Given the description of an element on the screen output the (x, y) to click on. 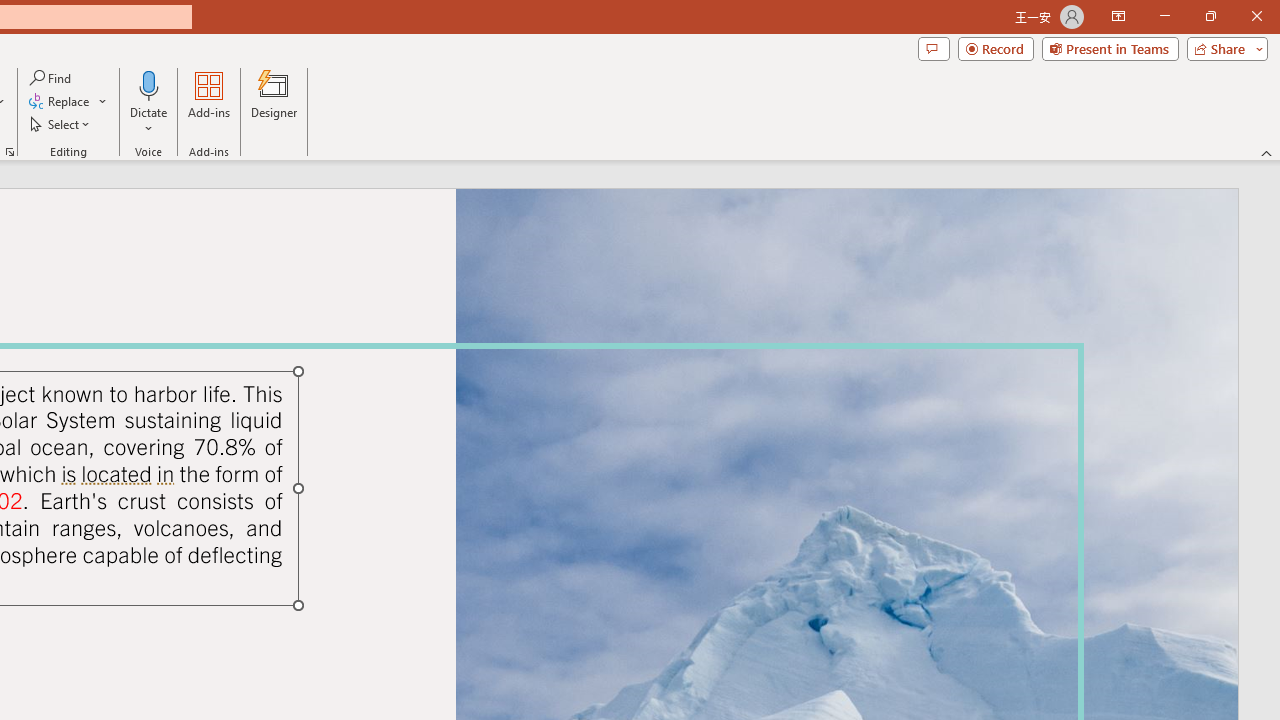
Select (61, 124)
Find... (51, 78)
Designer (274, 102)
Replace... (68, 101)
Dictate (149, 84)
Dictate (149, 102)
